Given the description of an element on the screen output the (x, y) to click on. 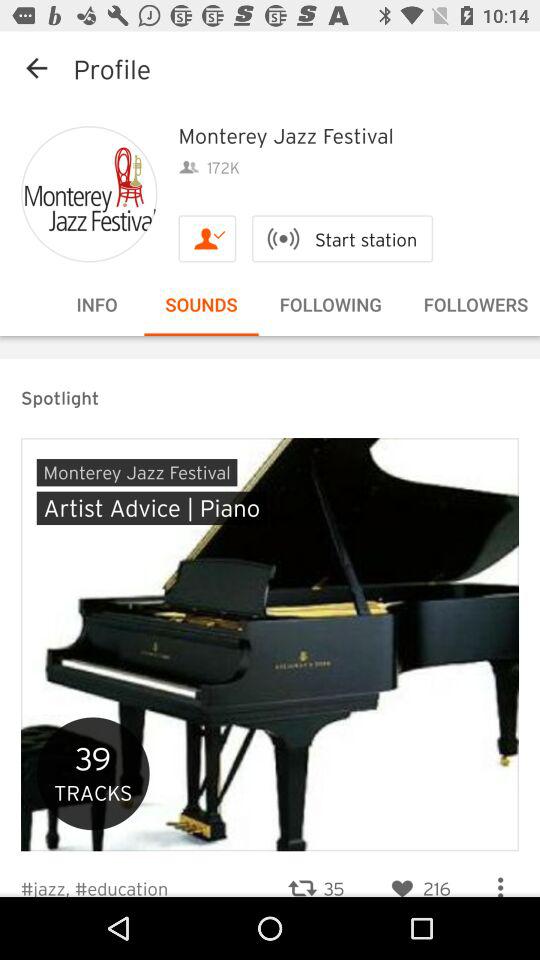
follow or unfollow (207, 238)
